Given the description of an element on the screen output the (x, y) to click on. 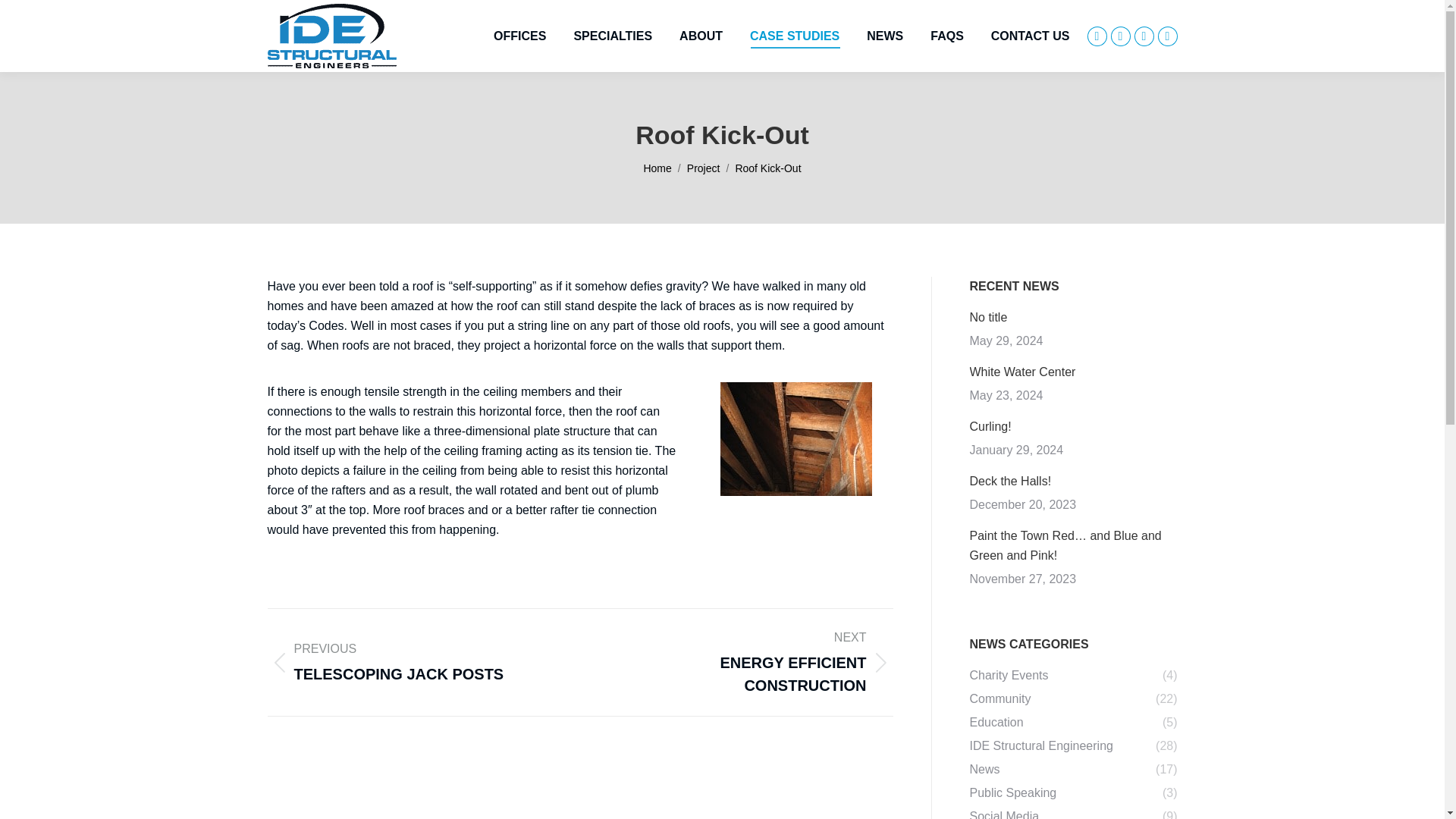
YouTube page opens in new window (1144, 35)
Instagram page opens in new window (1166, 35)
X page opens in new window (1119, 35)
Facebook page opens in new window (1096, 35)
ABOUT (701, 35)
YouTube page opens in new window (1144, 35)
Instagram page opens in new window (1166, 35)
Home (657, 168)
CASE STUDIES (794, 35)
Project (703, 168)
